Given the description of an element on the screen output the (x, y) to click on. 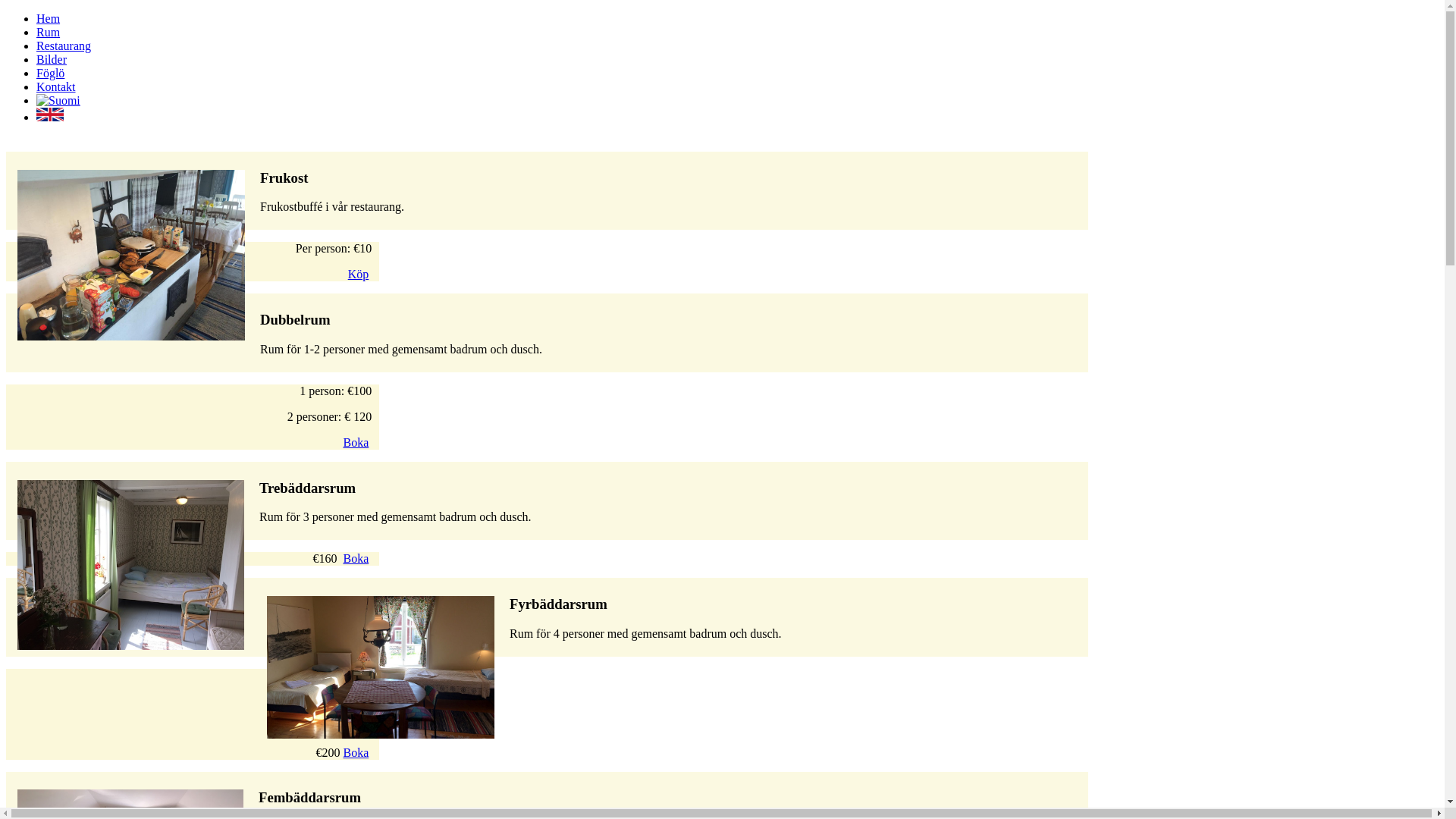
Bilder Element type: text (51, 59)
Restaurang Element type: text (63, 45)
Boka Element type: text (355, 442)
Boka Element type: text (355, 558)
Kontakt Element type: text (55, 86)
Hem Element type: text (47, 18)
Rum Element type: text (47, 31)
Boka Element type: text (355, 752)
